Given the description of an element on the screen output the (x, y) to click on. 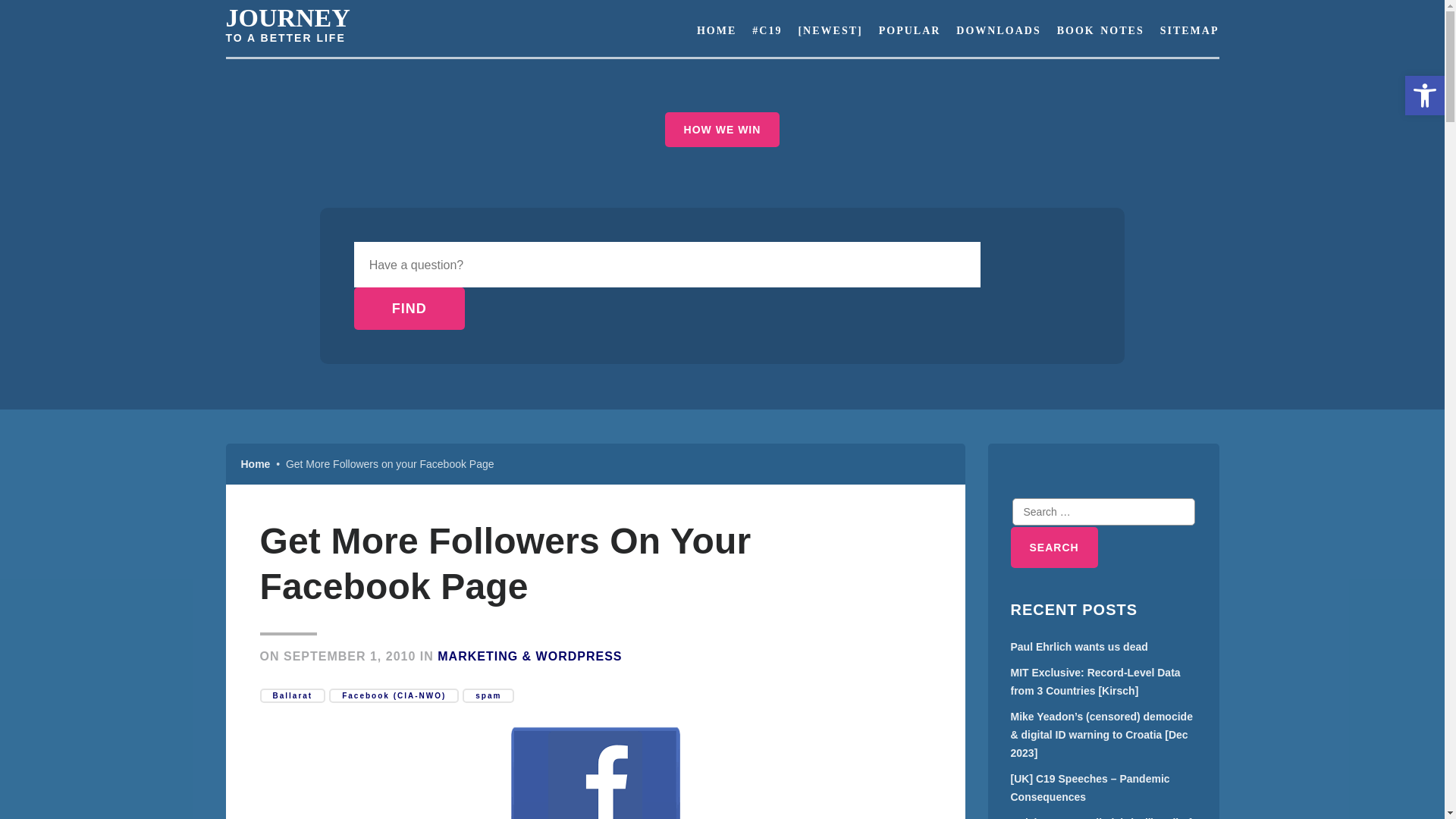
HOW WE WIN (722, 129)
HOW WE WIN (722, 129)
Home (255, 463)
spam (488, 695)
All Posts (830, 30)
BOOK NOTES (1099, 30)
DOWNLOADS (998, 30)
Search (1053, 547)
SITEMAP (1184, 30)
Search (1053, 547)
